Given the description of an element on the screen output the (x, y) to click on. 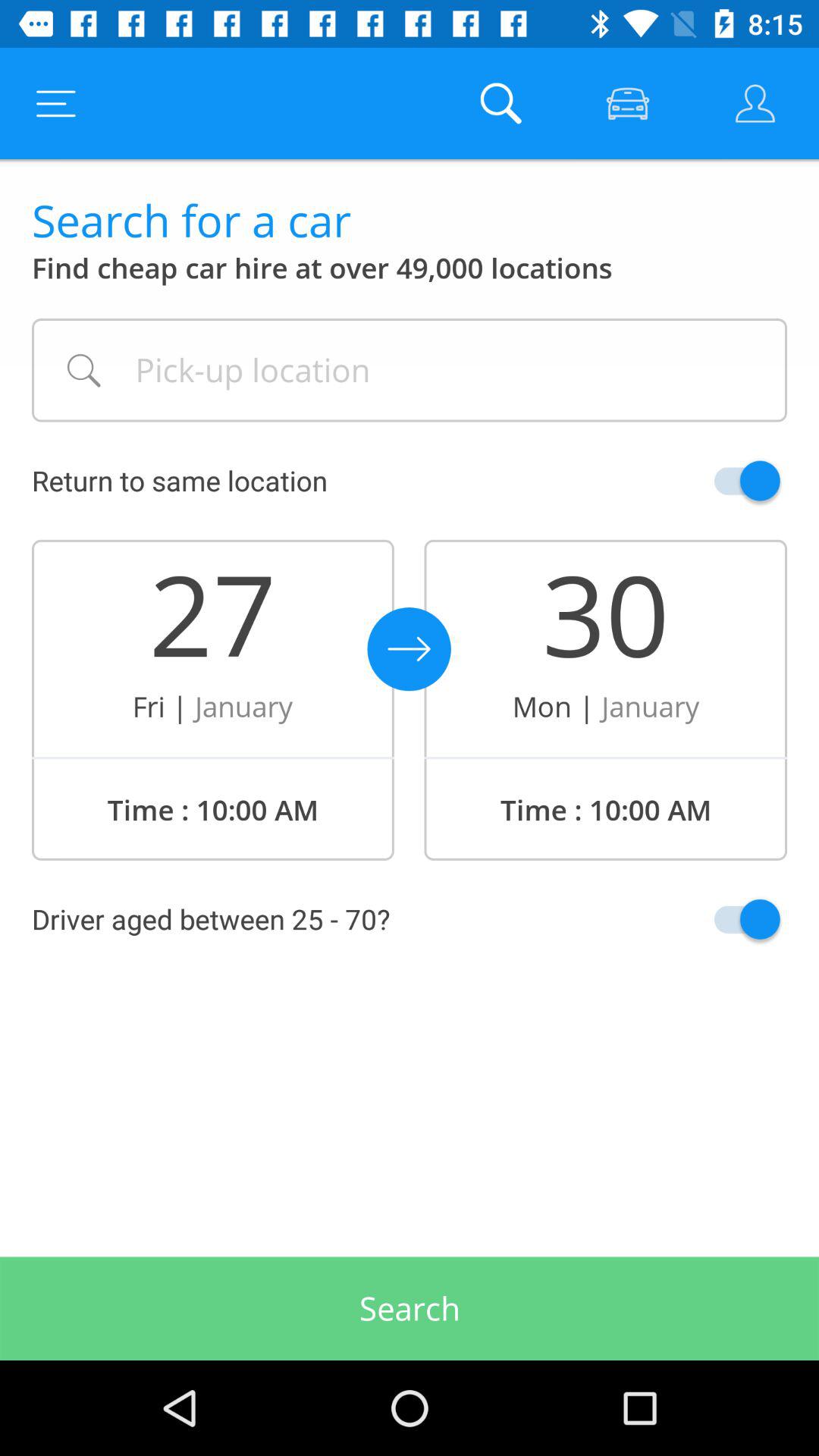
driver age confirmation (711, 919)
